Given the description of an element on the screen output the (x, y) to click on. 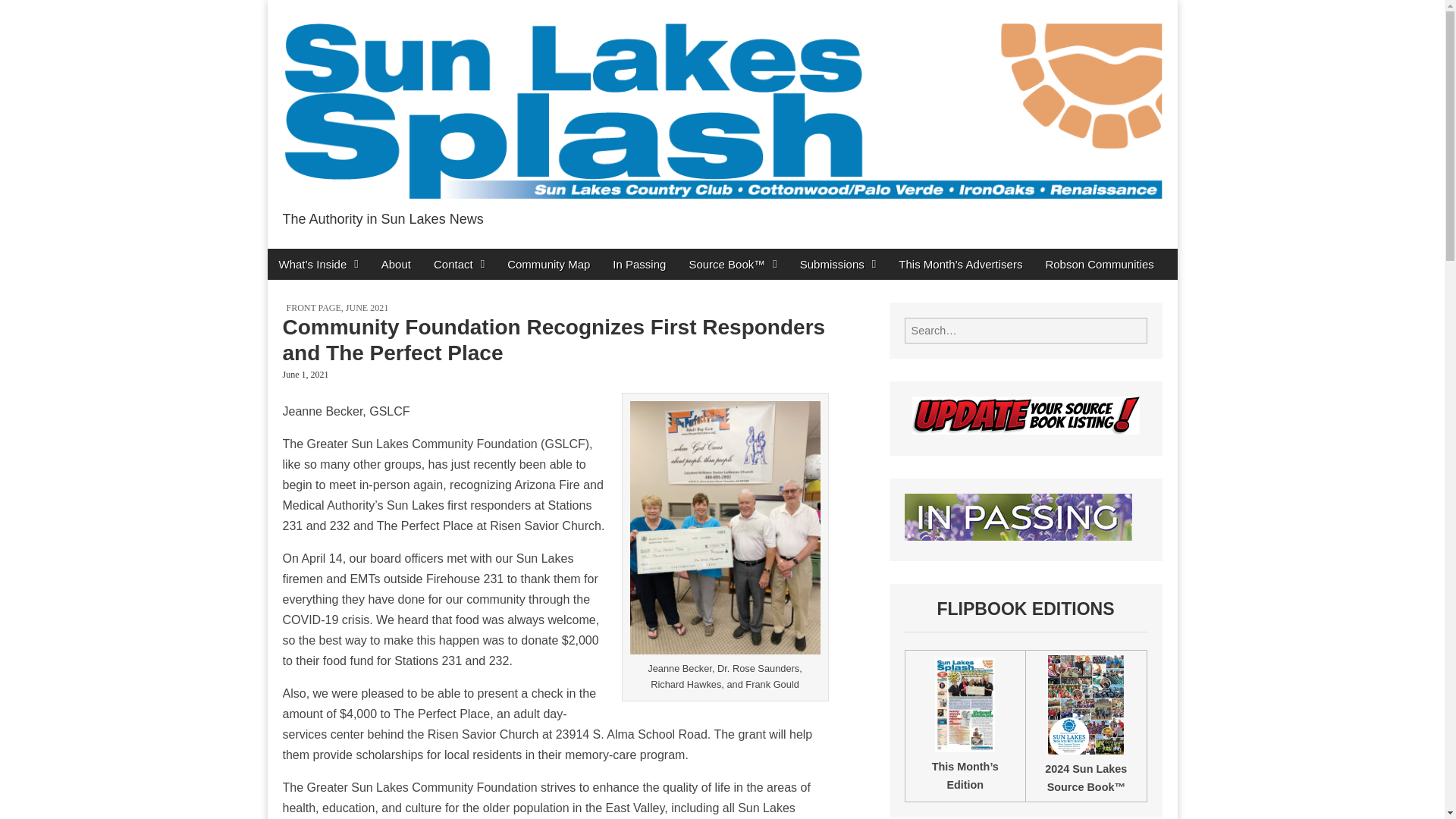
Skip to content (304, 257)
Submissions (838, 264)
In Passing (639, 264)
Sun Lakes Splash (438, 252)
Sun Lakes Splash (438, 252)
Community Map (548, 264)
Contact (459, 264)
Skip to content (304, 257)
About (395, 264)
